Given the description of an element on the screen output the (x, y) to click on. 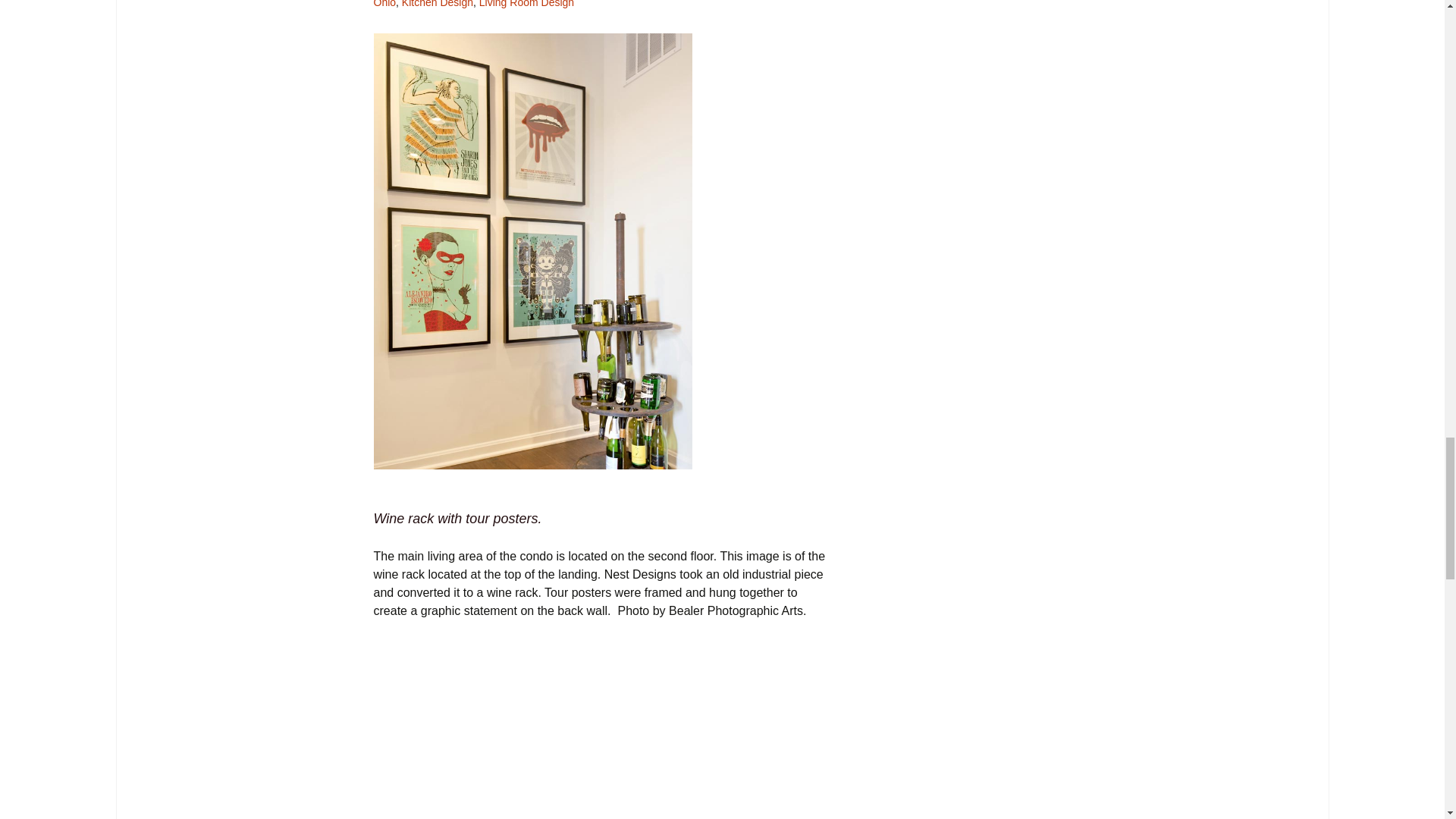
Kitchen Design (437, 4)
Interior Designer - Dayton Ohio (595, 4)
Living Room Design (526, 4)
Living area  (601, 728)
